Given the description of an element on the screen output the (x, y) to click on. 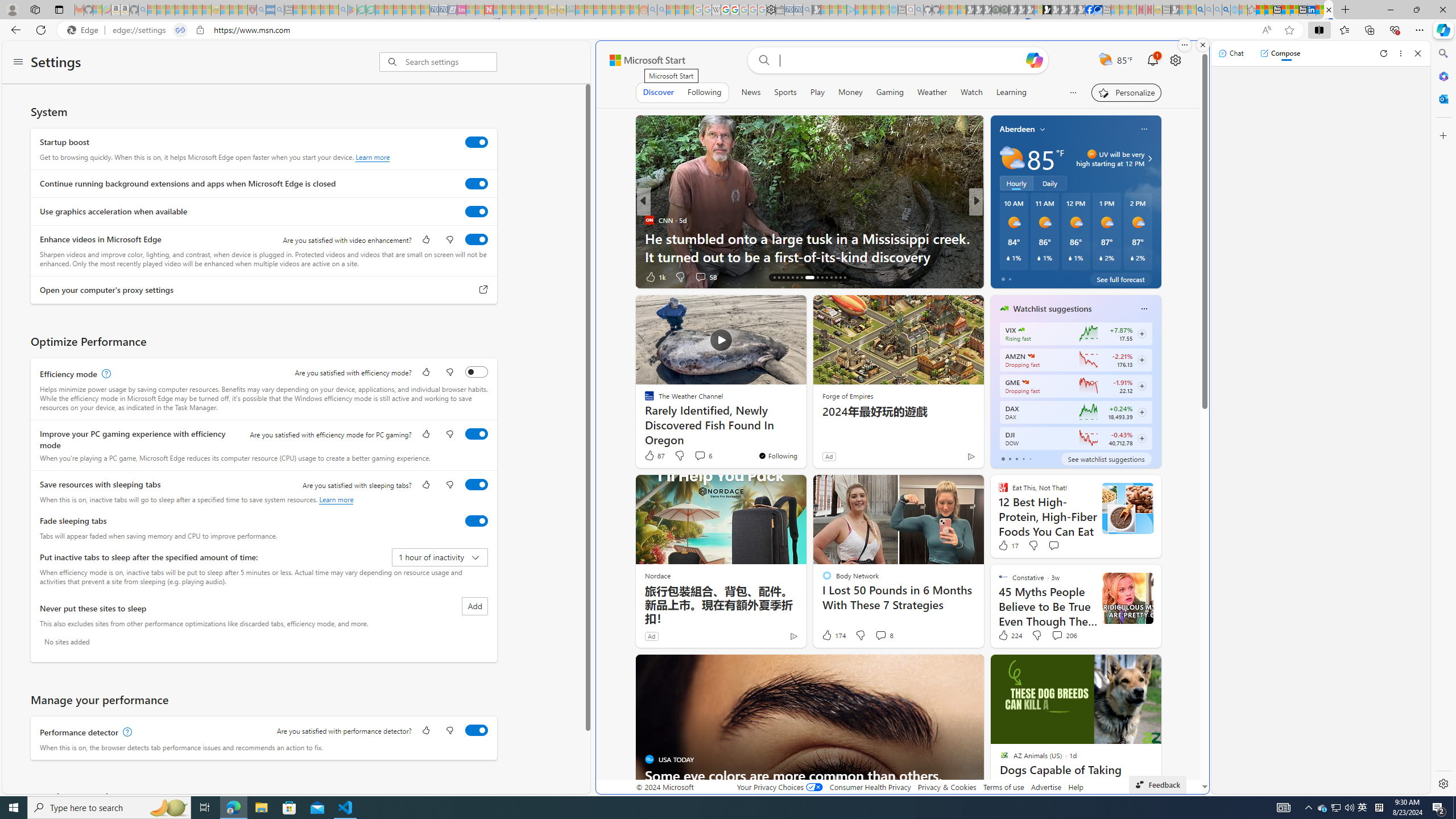
Jobs - lastminute.com Investor Portal - Sleeping (461, 9)
Ad (651, 636)
See more (969, 668)
Watchlist suggestions (1052, 308)
My location (1042, 128)
Open Copilot (1034, 59)
